Given the description of an element on the screen output the (x, y) to click on. 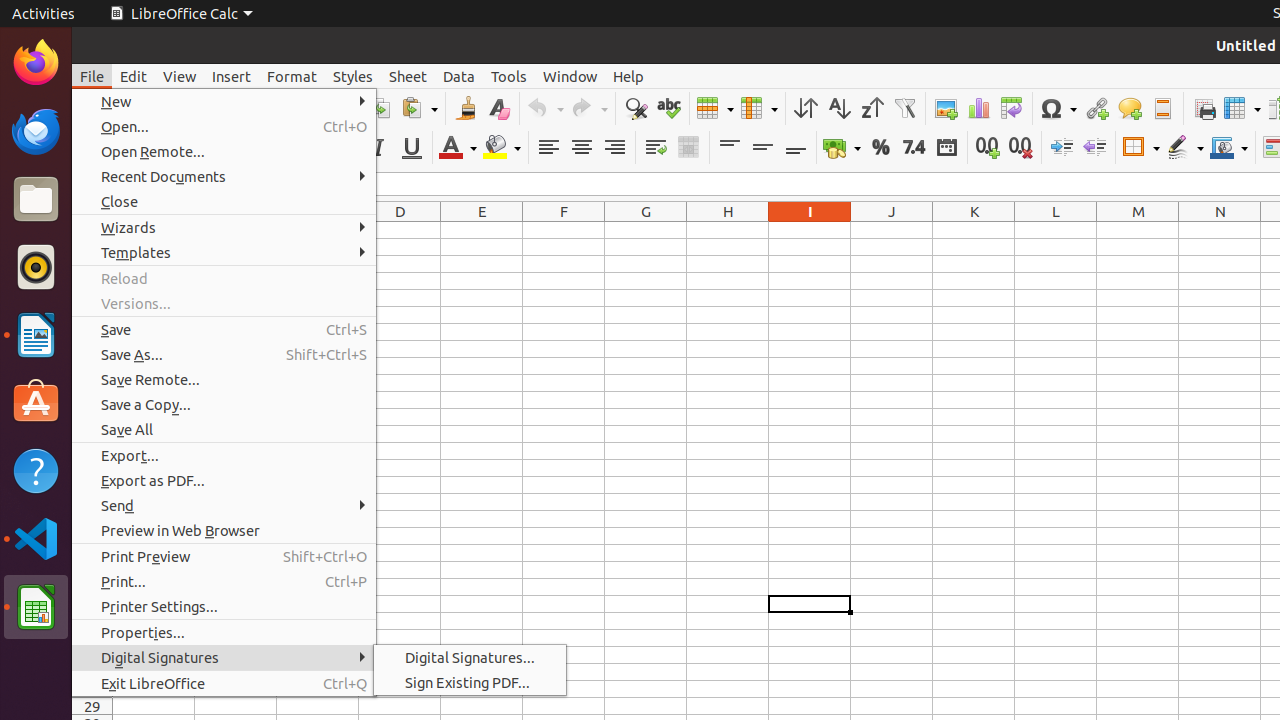
Chart Element type: push-button (978, 108)
Templates Element type: menu (224, 252)
Recent Documents Element type: menu (224, 176)
G1 Element type: table-cell (646, 230)
M1 Element type: table-cell (1138, 230)
